Given the description of an element on the screen output the (x, y) to click on. 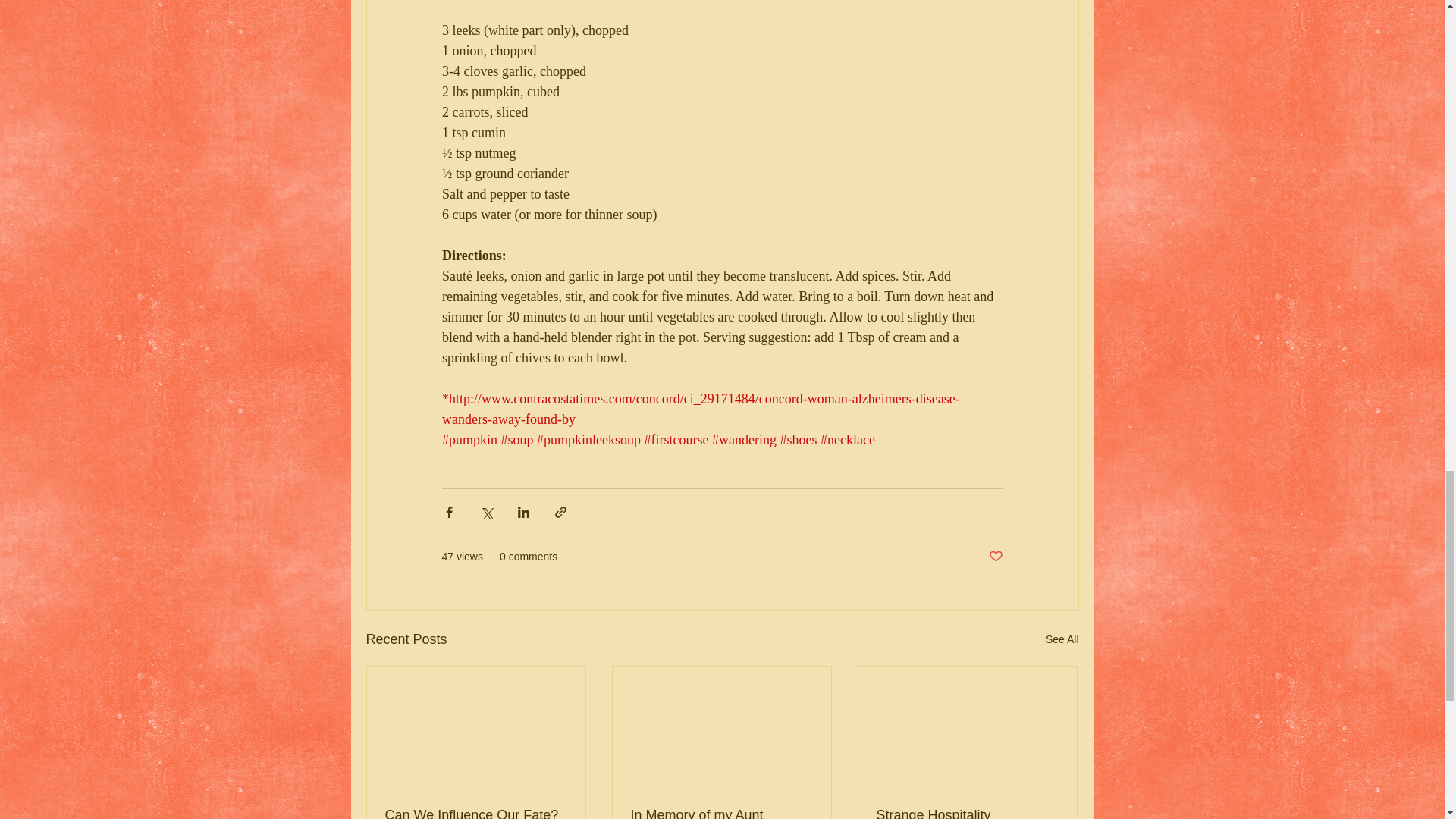
Strange Hospitality (967, 813)
Post not marked as liked (995, 556)
In Memory of my Aunt Barbara (721, 813)
Can We Influence Our Fate? (476, 813)
See All (1061, 639)
